Given the description of an element on the screen output the (x, y) to click on. 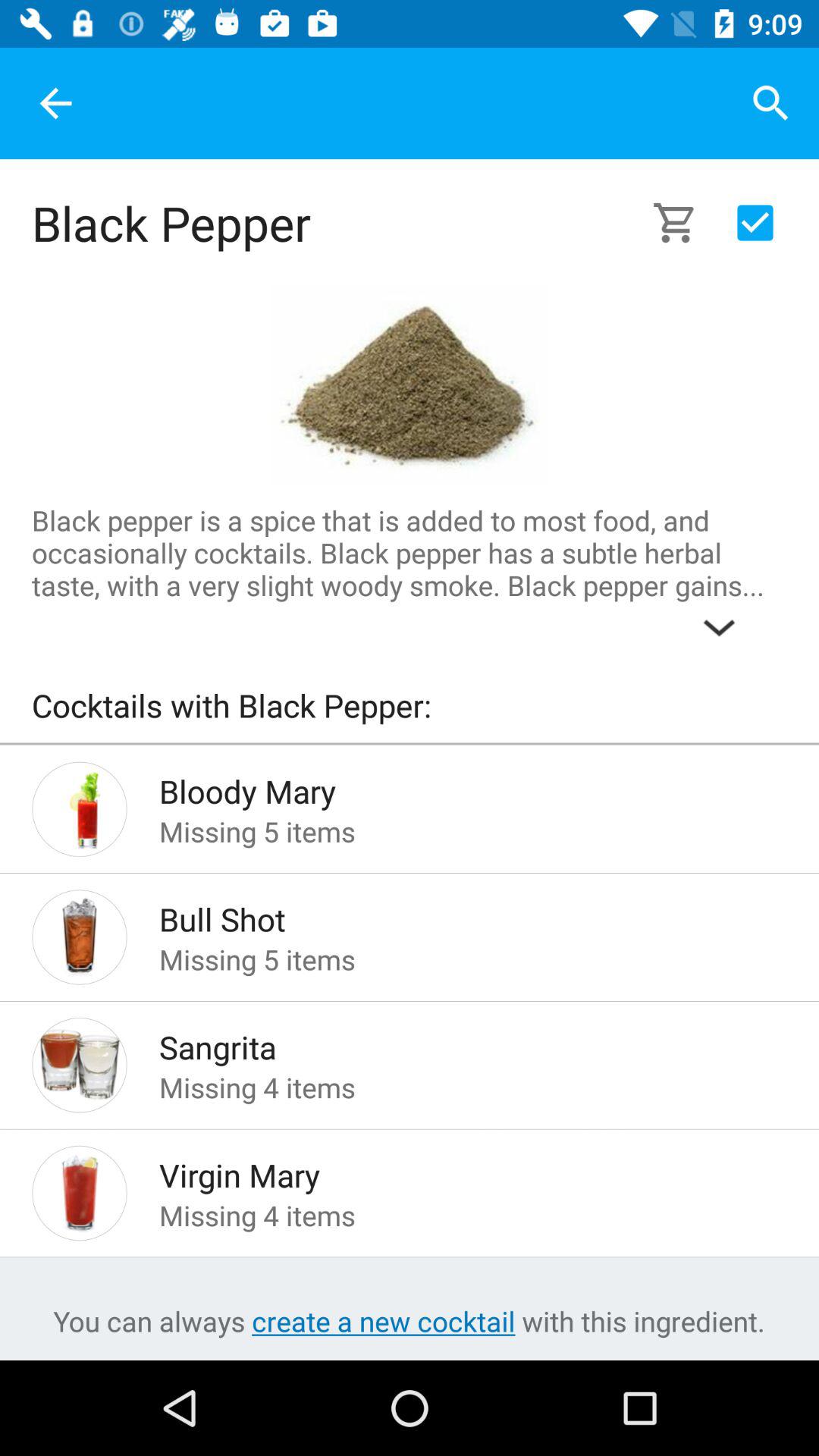
choose sangrita (449, 1042)
